Given the description of an element on the screen output the (x, y) to click on. 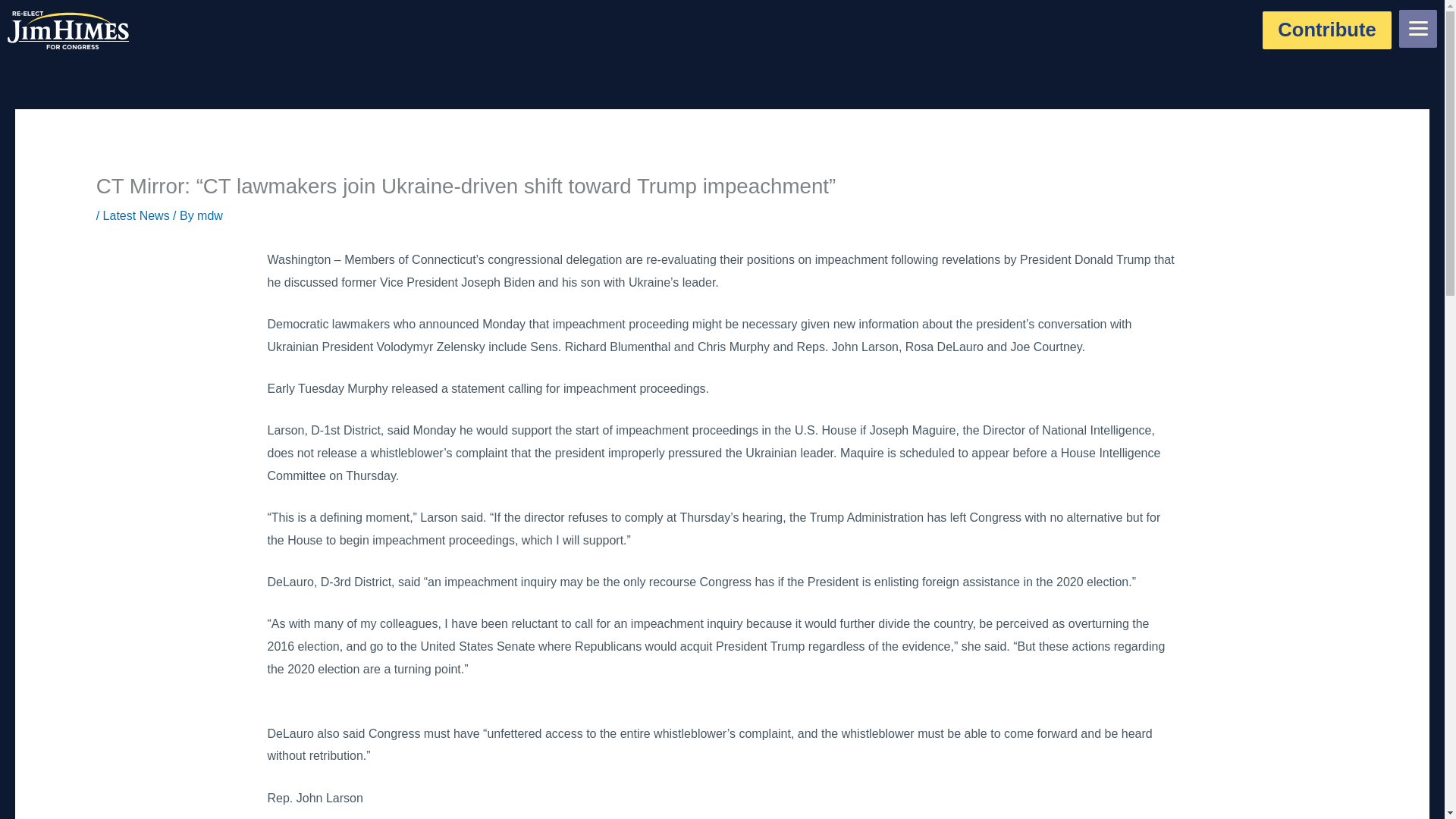
Latest News (136, 215)
Contribute (1326, 30)
View all posts by mdw (209, 215)
mdw (209, 215)
